Given the description of an element on the screen output the (x, y) to click on. 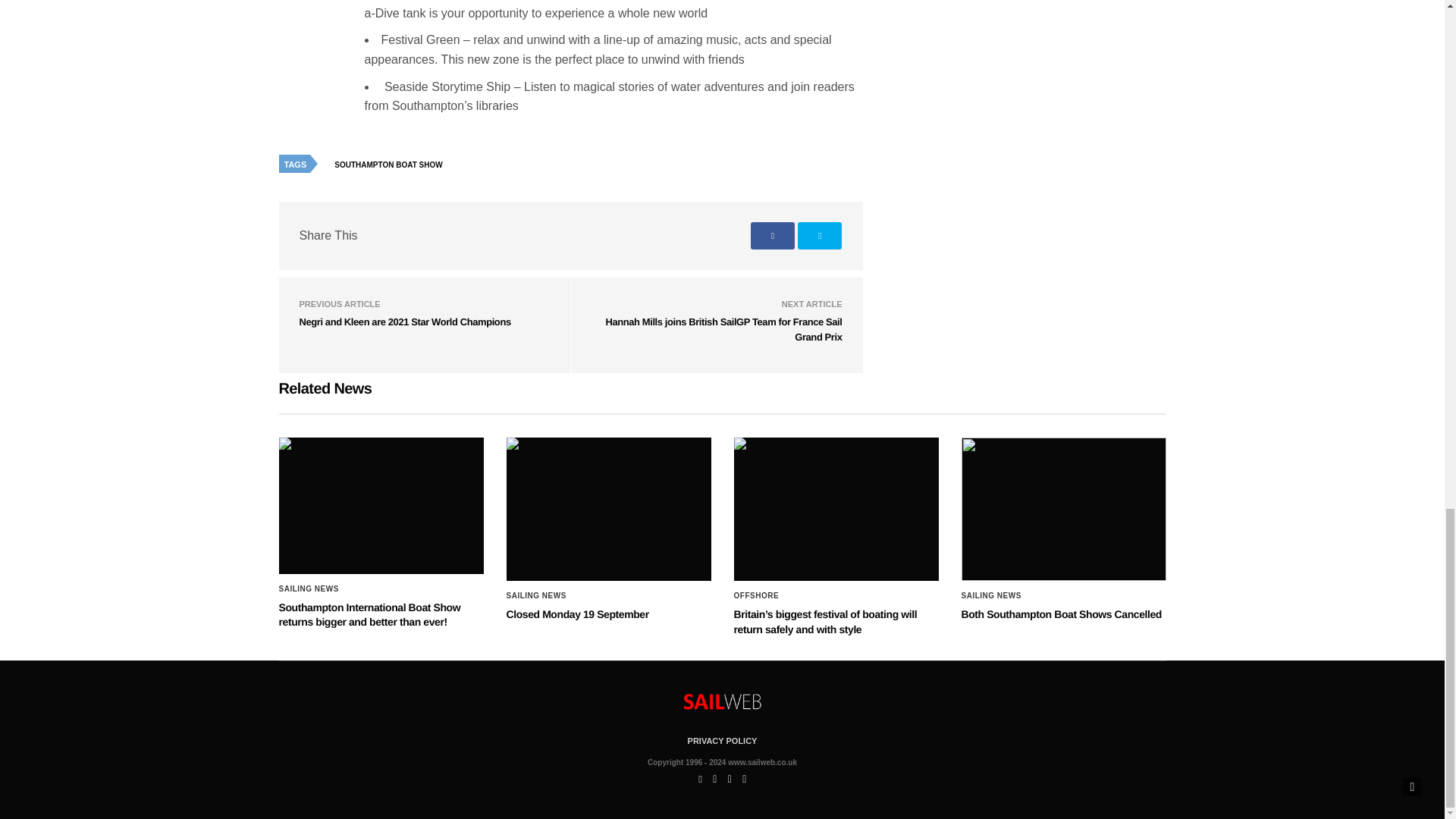
SOUTHAMPTON BOAT SHOW (391, 164)
Sailing News (309, 588)
Sailing News (536, 595)
Sailing News (991, 595)
Offshore (755, 595)
Closed Monday 19 September (608, 509)
Both Southampton Boat Shows Cancelled (1063, 509)
Closed Monday 19 September (577, 613)
Negri and Kleen are 2021 Star World Champions (404, 321)
